Given the description of an element on the screen output the (x, y) to click on. 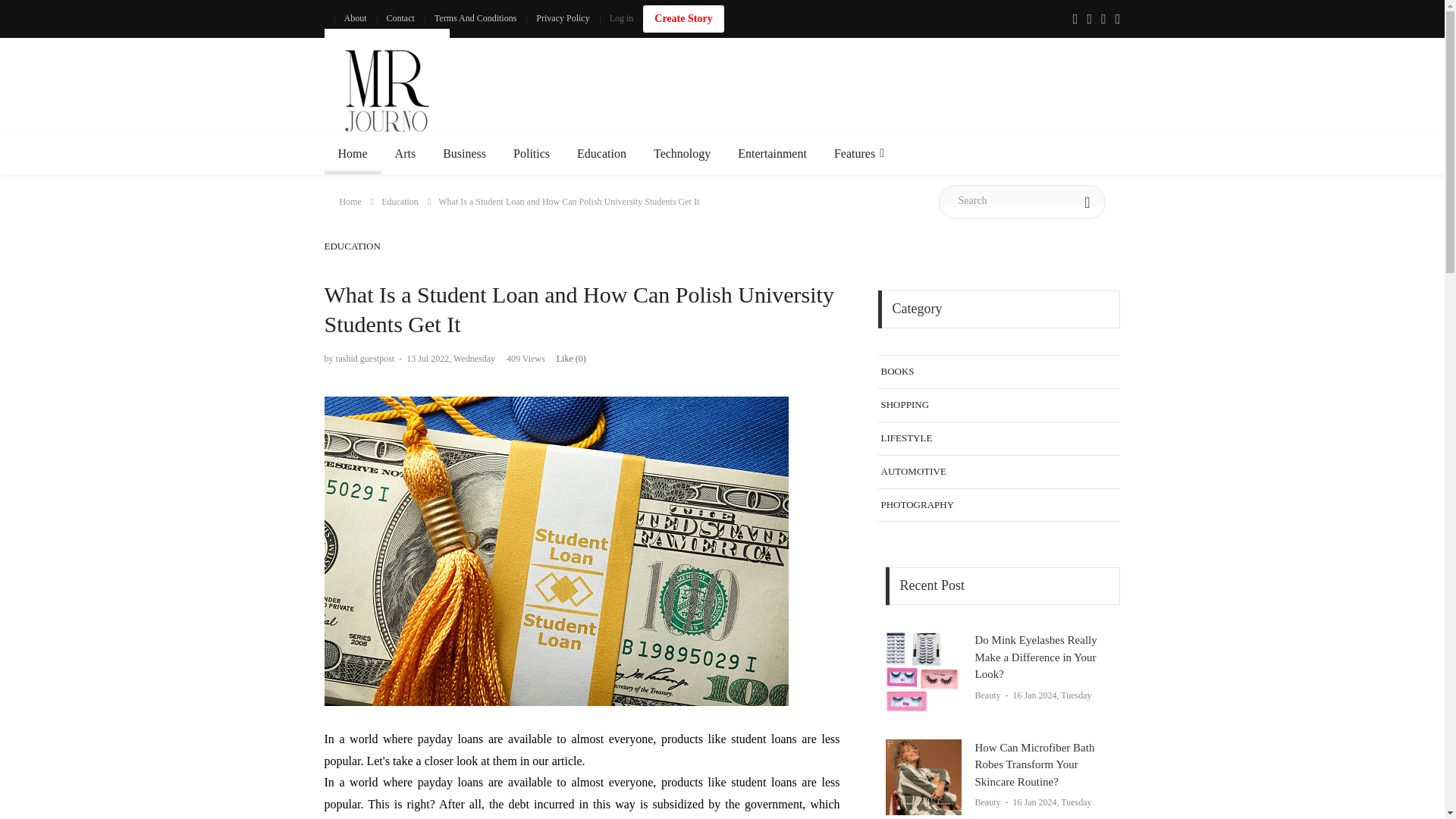
Do Mink Eyelashes Really Make a Difference in Your Look? (922, 673)
Terms And Conditions (476, 18)
Mr. Journo (386, 90)
Contact (399, 18)
Advertisement (845, 90)
Privacy Policy (561, 18)
Log in (621, 18)
About (354, 18)
Create Story (683, 17)
